Given the description of an element on the screen output the (x, y) to click on. 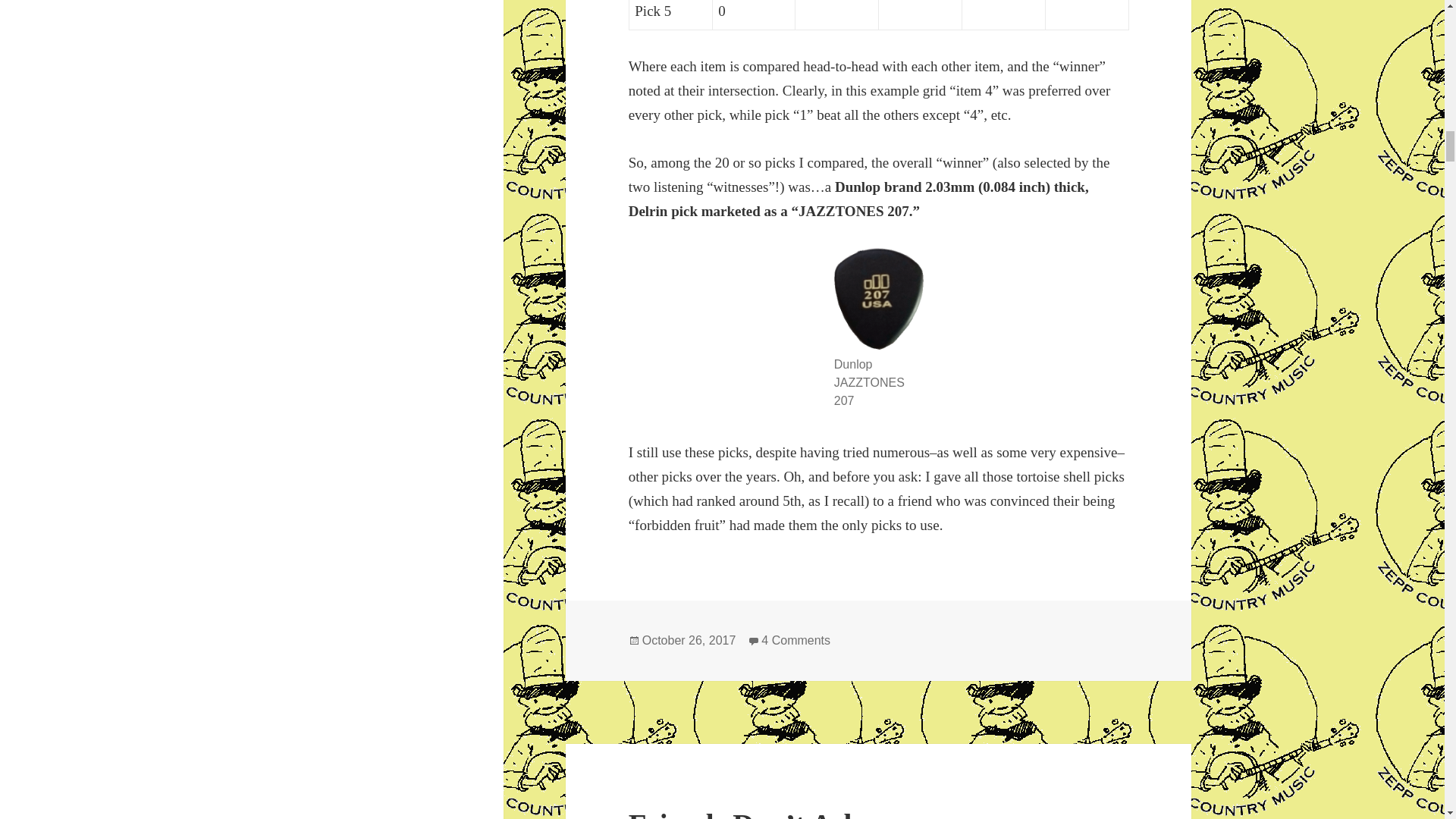
October 26, 2017 (689, 640)
